Given the description of an element on the screen output the (x, y) to click on. 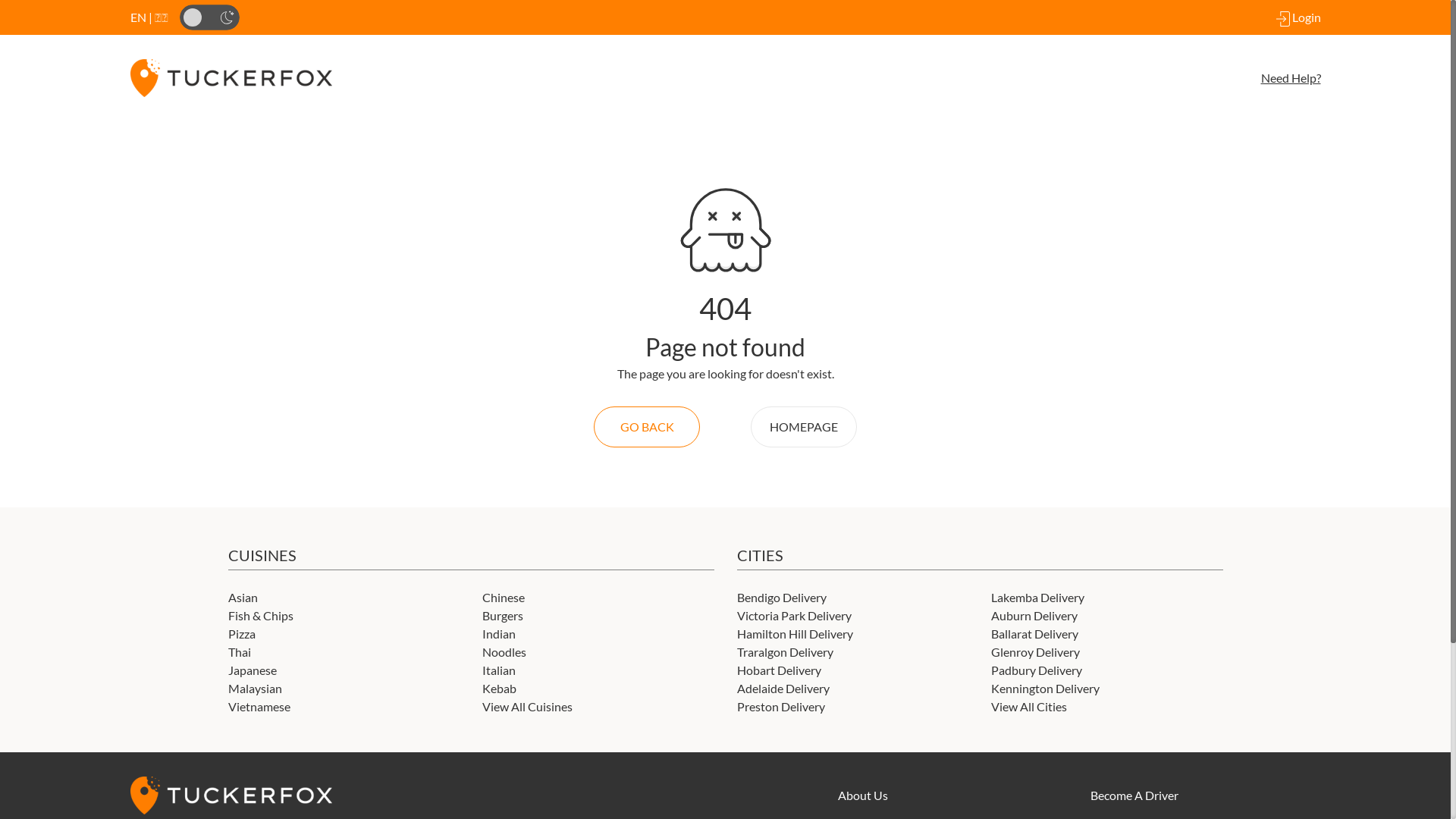
Hamilton Hill Delivery Element type: text (795, 633)
Burgers Element type: text (502, 615)
Asian Element type: text (242, 596)
View All Cuisines Element type: text (527, 706)
Lakemba Delivery Element type: text (1037, 596)
Noodles Element type: text (504, 651)
Bendigo Delivery Element type: text (781, 596)
About Us Element type: text (862, 794)
Malaysian Element type: text (254, 687)
Kennington Delivery Element type: text (1045, 687)
Auburn Delivery Element type: text (1034, 615)
Traralgon Delivery Element type: text (785, 651)
Victoria Park Delivery Element type: text (794, 615)
Padbury Delivery Element type: text (1036, 669)
View All Cities Element type: text (1028, 706)
Chinese Element type: text (503, 596)
Login Element type: text (1294, 17)
Kebab Element type: text (499, 687)
Hobart Delivery Element type: text (779, 669)
HOMEPAGE Element type: text (803, 426)
Italian Element type: text (498, 669)
Pizza Element type: text (240, 633)
Glenroy Delivery Element type: text (1035, 651)
Ballarat Delivery Element type: text (1034, 633)
Become A Driver Element type: text (1134, 794)
Preston Delivery Element type: text (781, 706)
Adelaide Delivery Element type: text (783, 687)
EN Element type: text (138, 16)
Need Help? Element type: text (1029, 78)
GO BACK Element type: text (646, 426)
Vietnamese Element type: text (258, 706)
Japanese Element type: text (251, 669)
Indian Element type: text (498, 633)
Fish & Chips Element type: text (259, 615)
Thai Element type: text (238, 651)
